Given the description of an element on the screen output the (x, y) to click on. 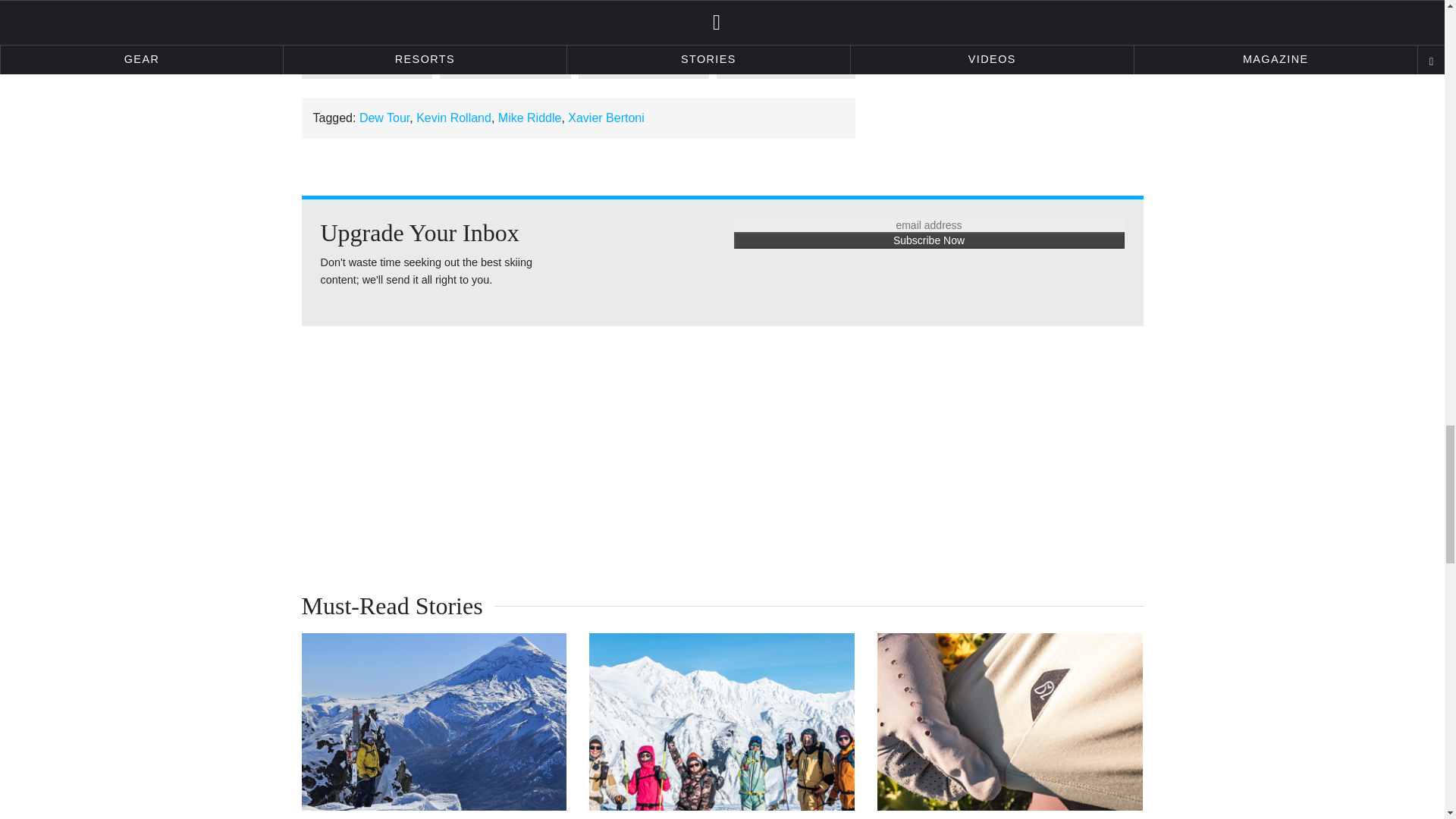
Xavier Bertoni (606, 117)
Mike Riddle (529, 117)
Kevin Rolland (454, 117)
Subscribe Now (928, 239)
Dew Tour (384, 117)
Subscribe Now (928, 239)
